Given the description of an element on the screen output the (x, y) to click on. 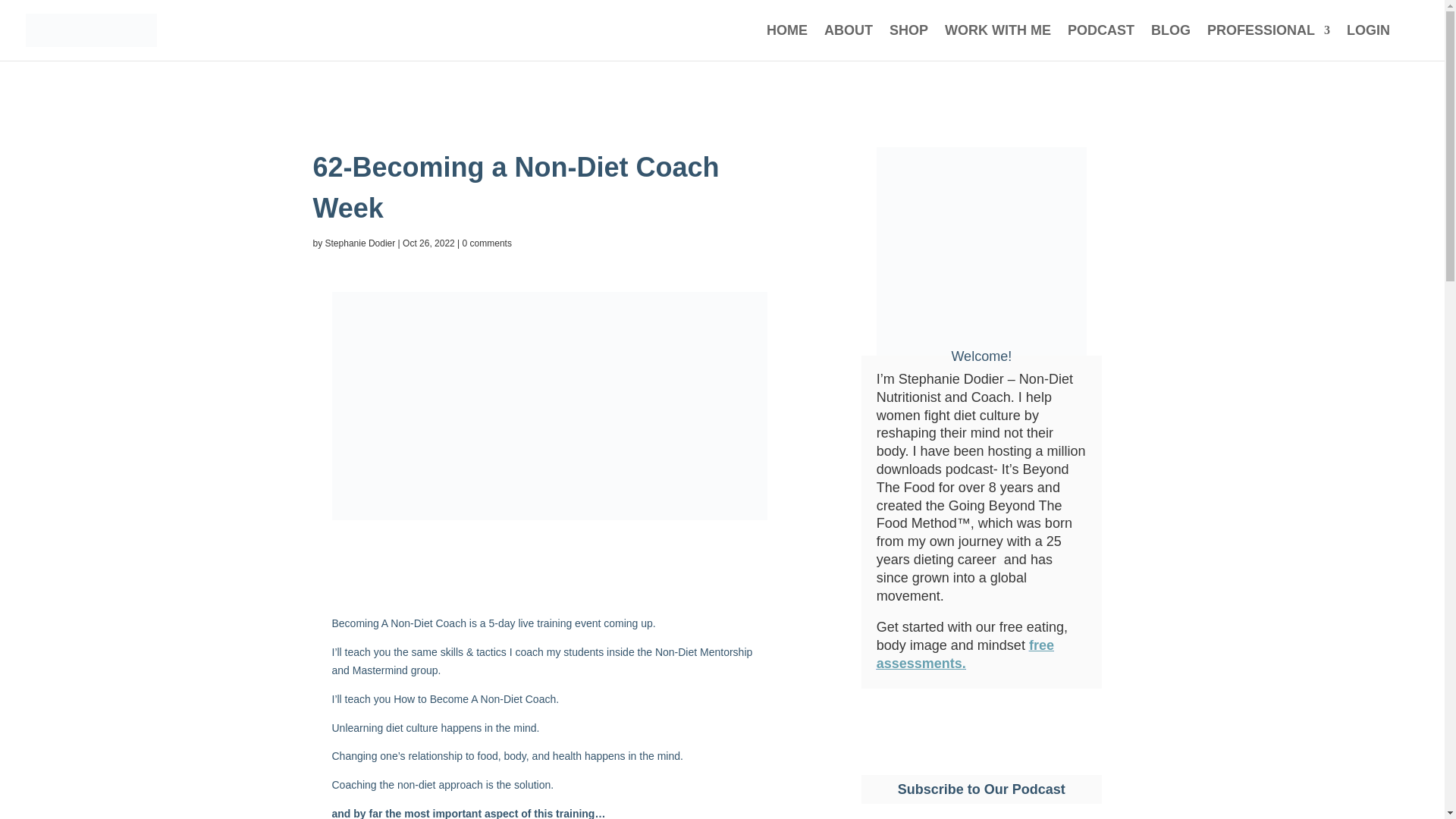
WORK WITH ME (997, 42)
PROFESSIONAL (1268, 42)
PODCAST (1100, 42)
free (1041, 645)
0 comments (487, 243)
assessments. (921, 663)
LOGIN (1368, 42)
ABOUT (848, 42)
HOME (787, 42)
BLOG (1171, 42)
